Given the description of an element on the screen output the (x, y) to click on. 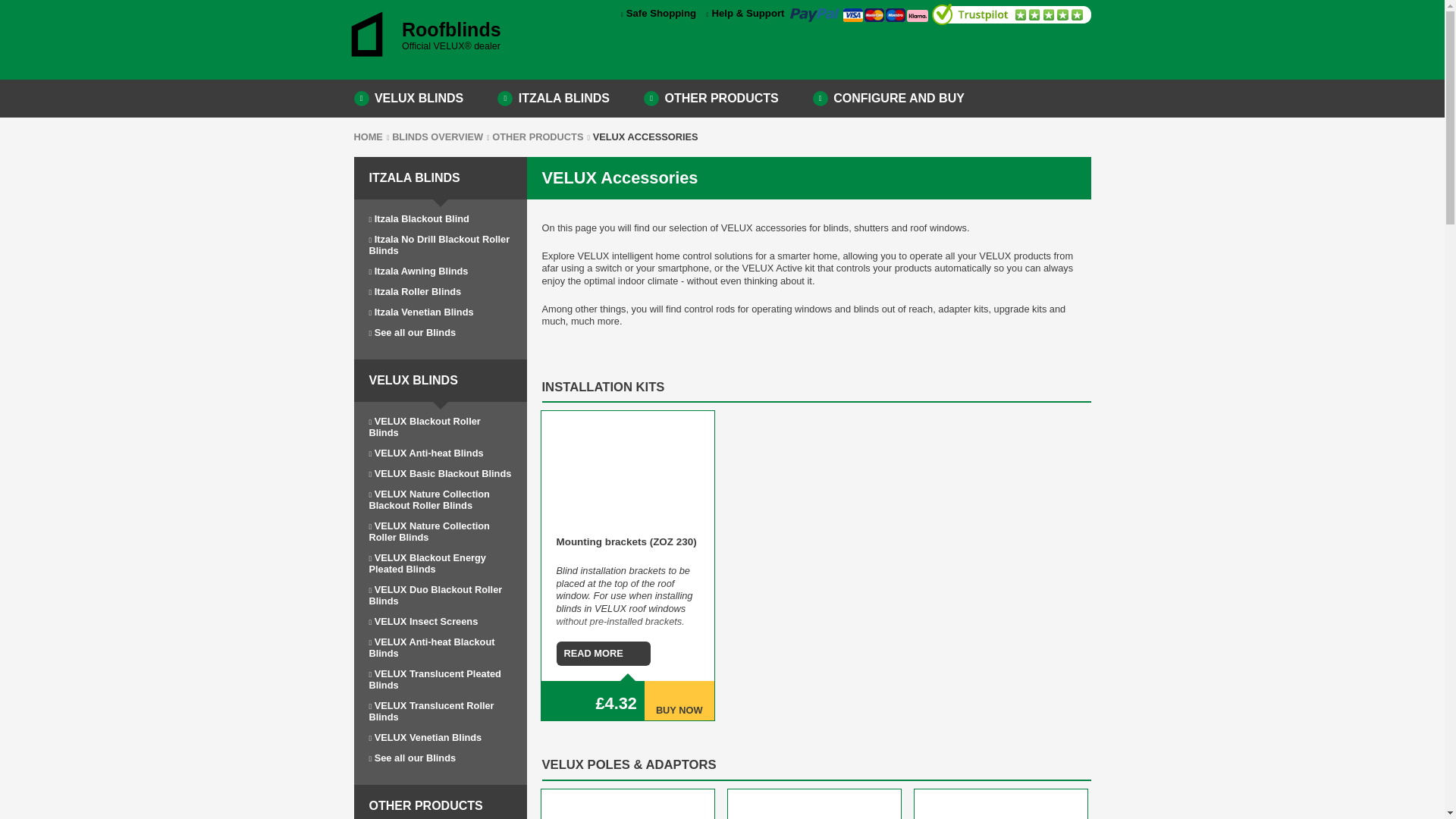
Safe Shopping (658, 12)
VELUX BLINDS (408, 98)
